Given the description of an element on the screen output the (x, y) to click on. 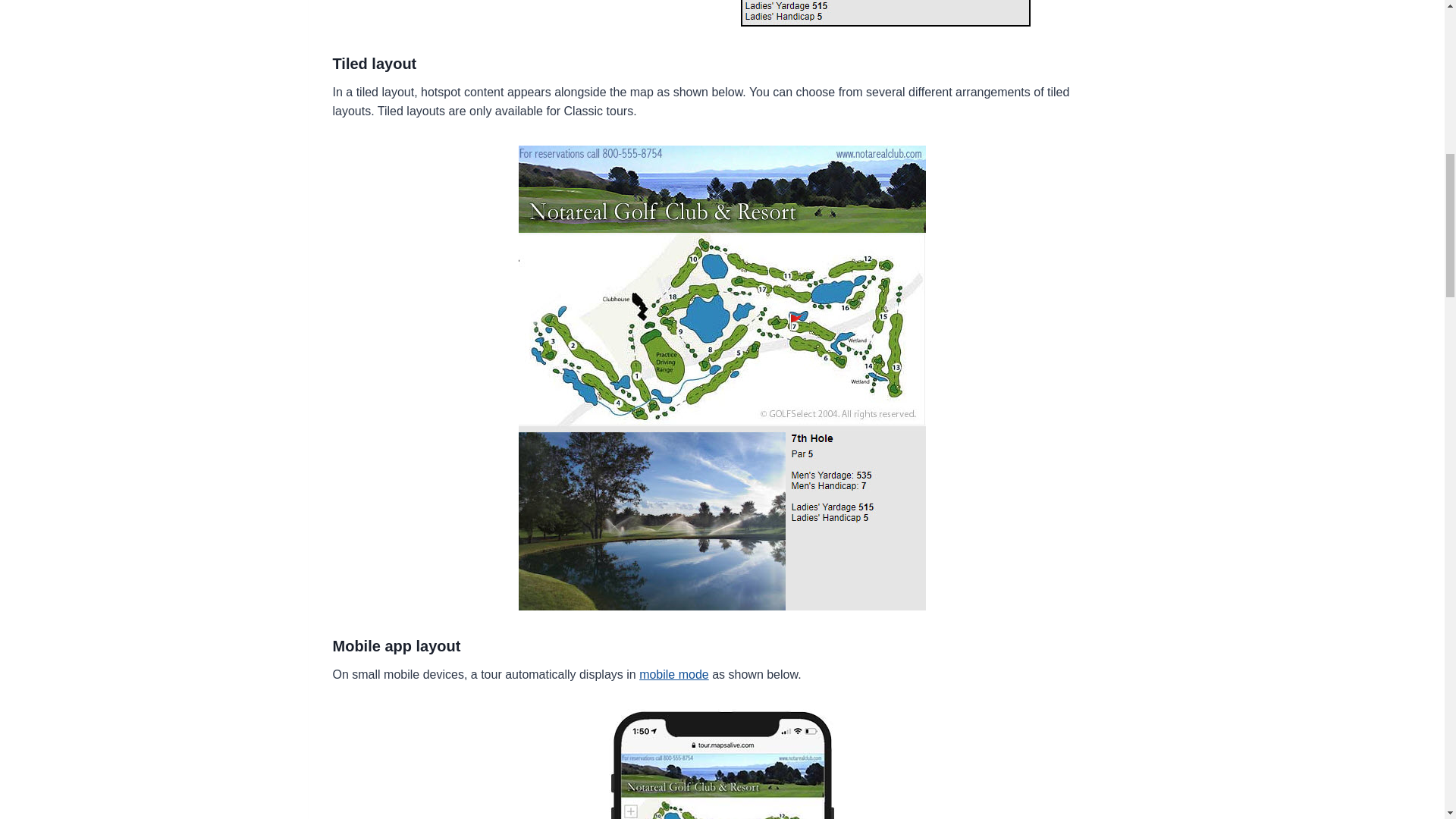
Layout and appearance automatically adjust on mobile devices (721, 764)
mobile mode (674, 674)
Popup layout and appearance (722, 13)
